Given the description of an element on the screen output the (x, y) to click on. 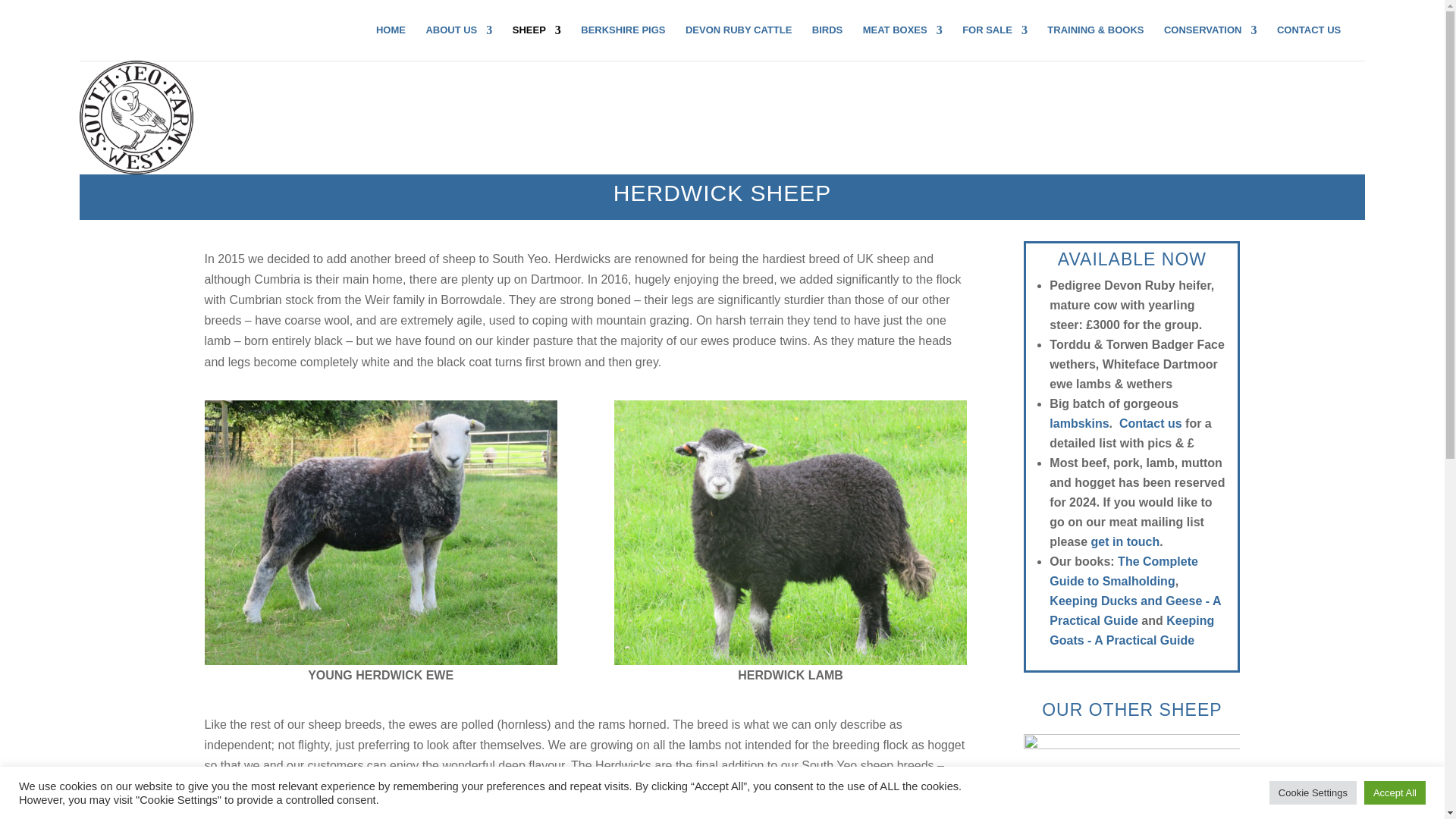
SHEEP (536, 42)
MEAT BOXES (902, 42)
CONSERVATION (1210, 42)
BIRDS (827, 42)
BERKSHIRE PIGS (622, 42)
ABOUT US (458, 42)
HOME (390, 42)
CONTACT US (1308, 42)
DEVON RUBY CATTLE (738, 42)
FOR SALE (994, 42)
